Given the description of an element on the screen output the (x, y) to click on. 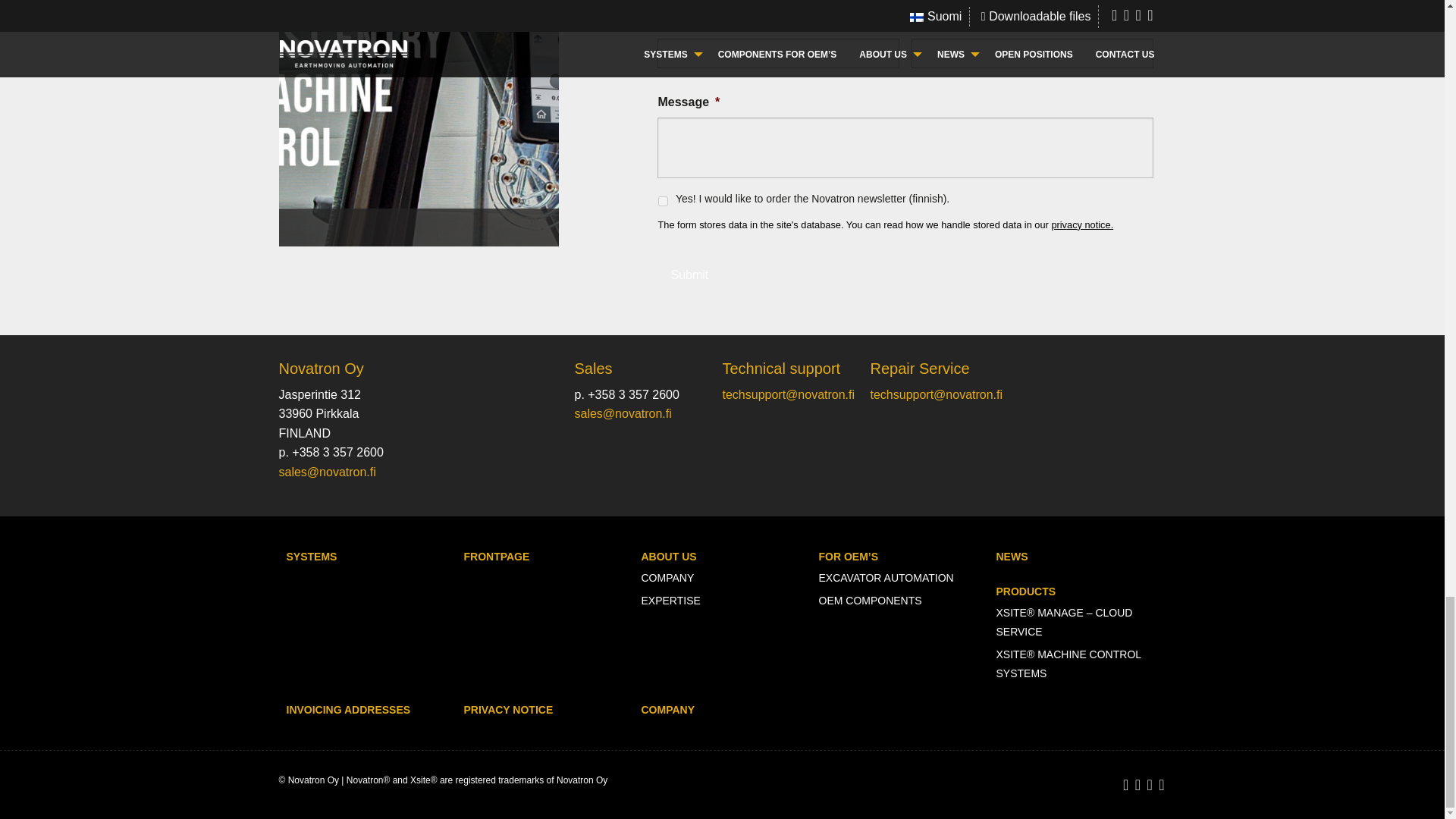
ABOUT US (669, 556)
Submit (689, 274)
privacy notice. (1082, 224)
FRONTPAGE (496, 556)
Submit (689, 274)
SYSTEMS (311, 556)
